Given the description of an element on the screen output the (x, y) to click on. 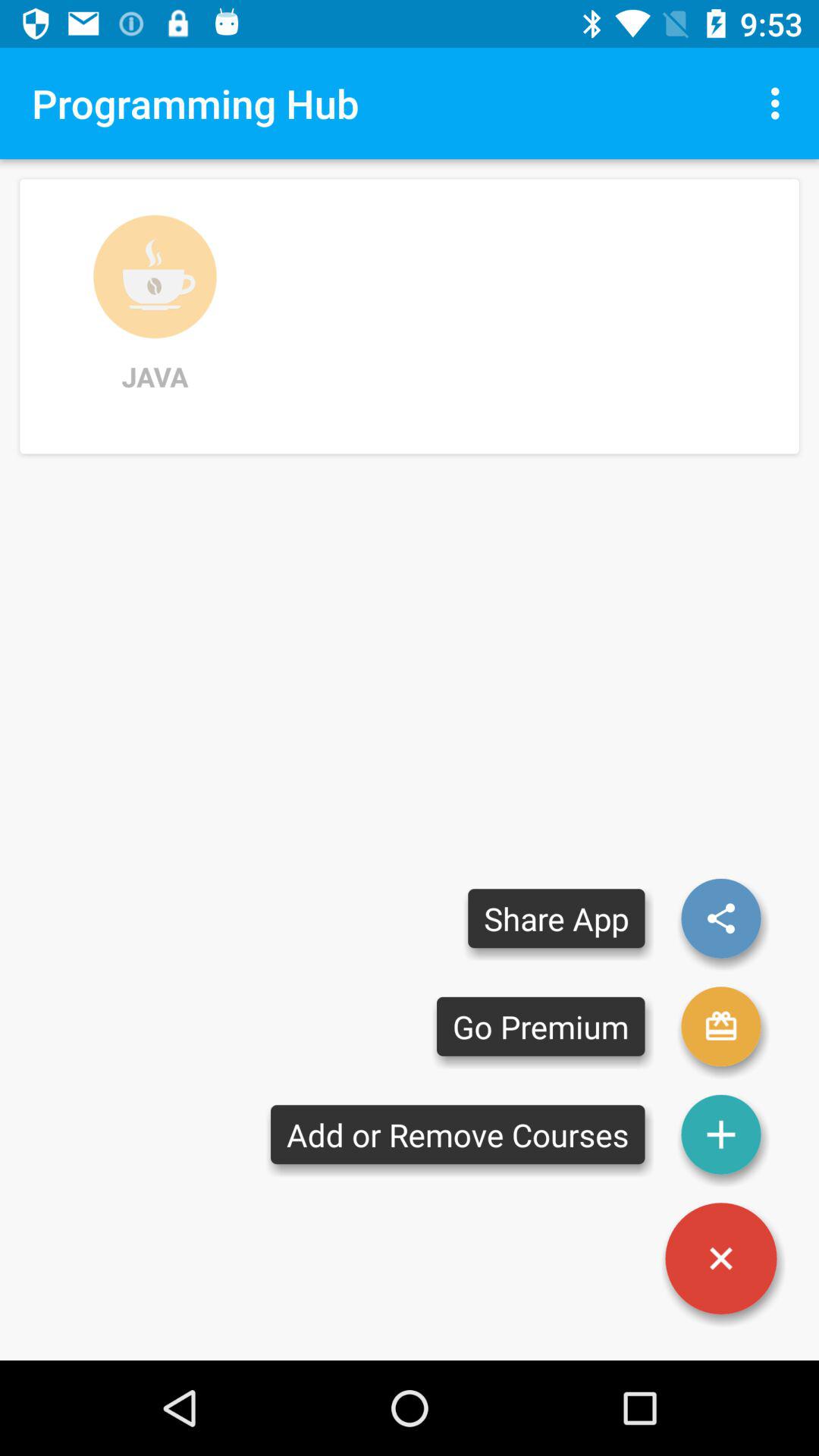
swipe until the add or remove icon (457, 1134)
